Given the description of an element on the screen output the (x, y) to click on. 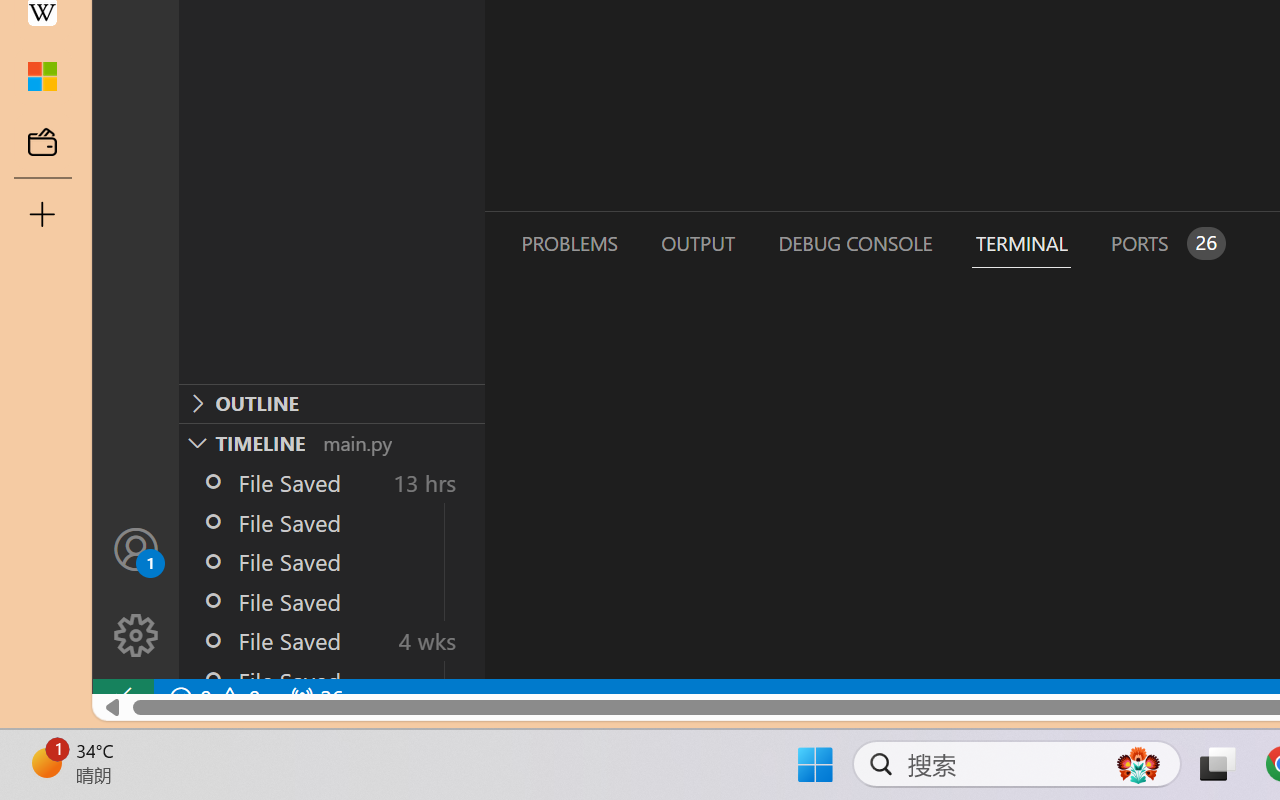
Ports - 26 forwarded ports (1165, 243)
Timeline Section (331, 442)
Accounts - Sign in requested (135, 548)
Manage (135, 591)
